Given the description of an element on the screen output the (x, y) to click on. 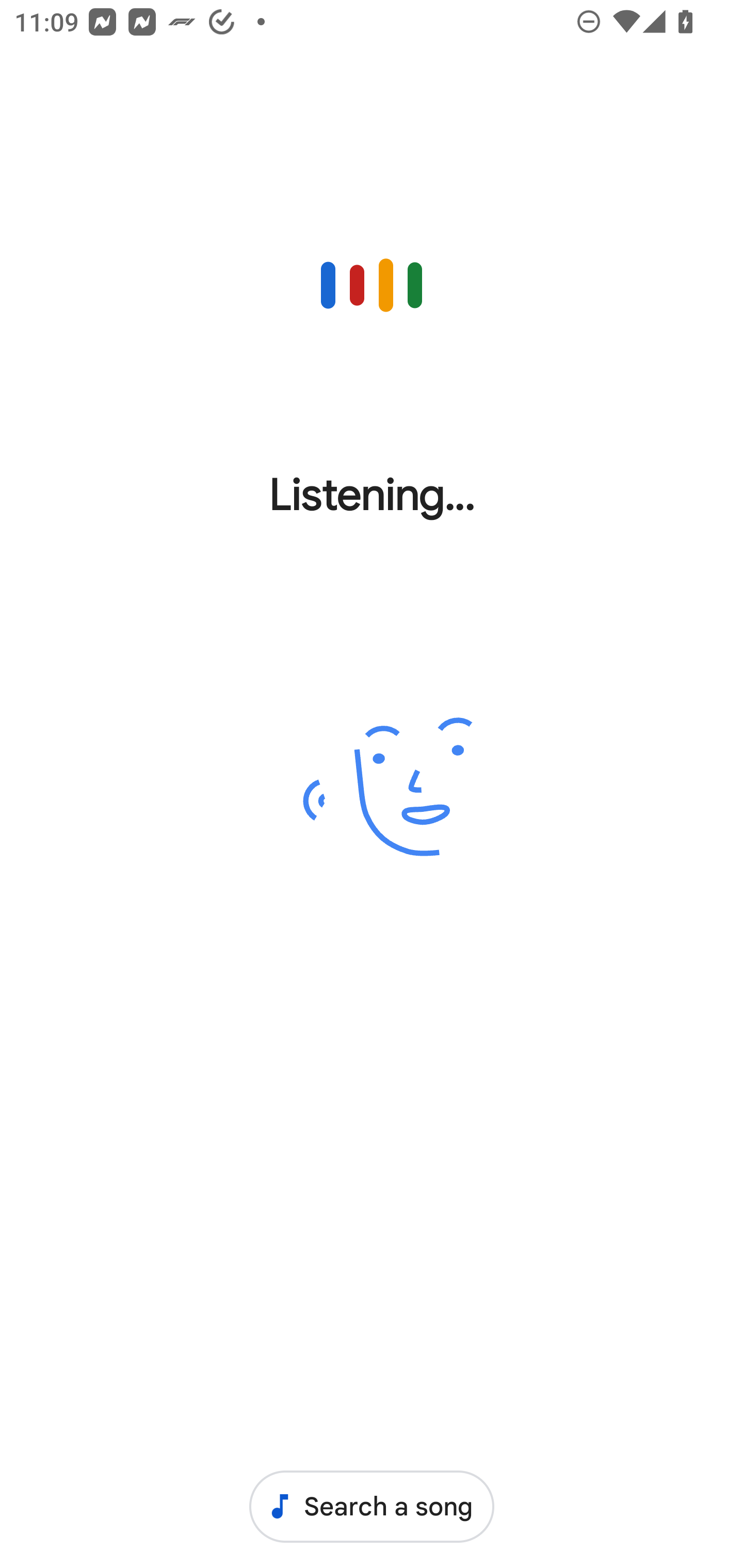
Search a song (371, 1505)
